Given the description of an element on the screen output the (x, y) to click on. 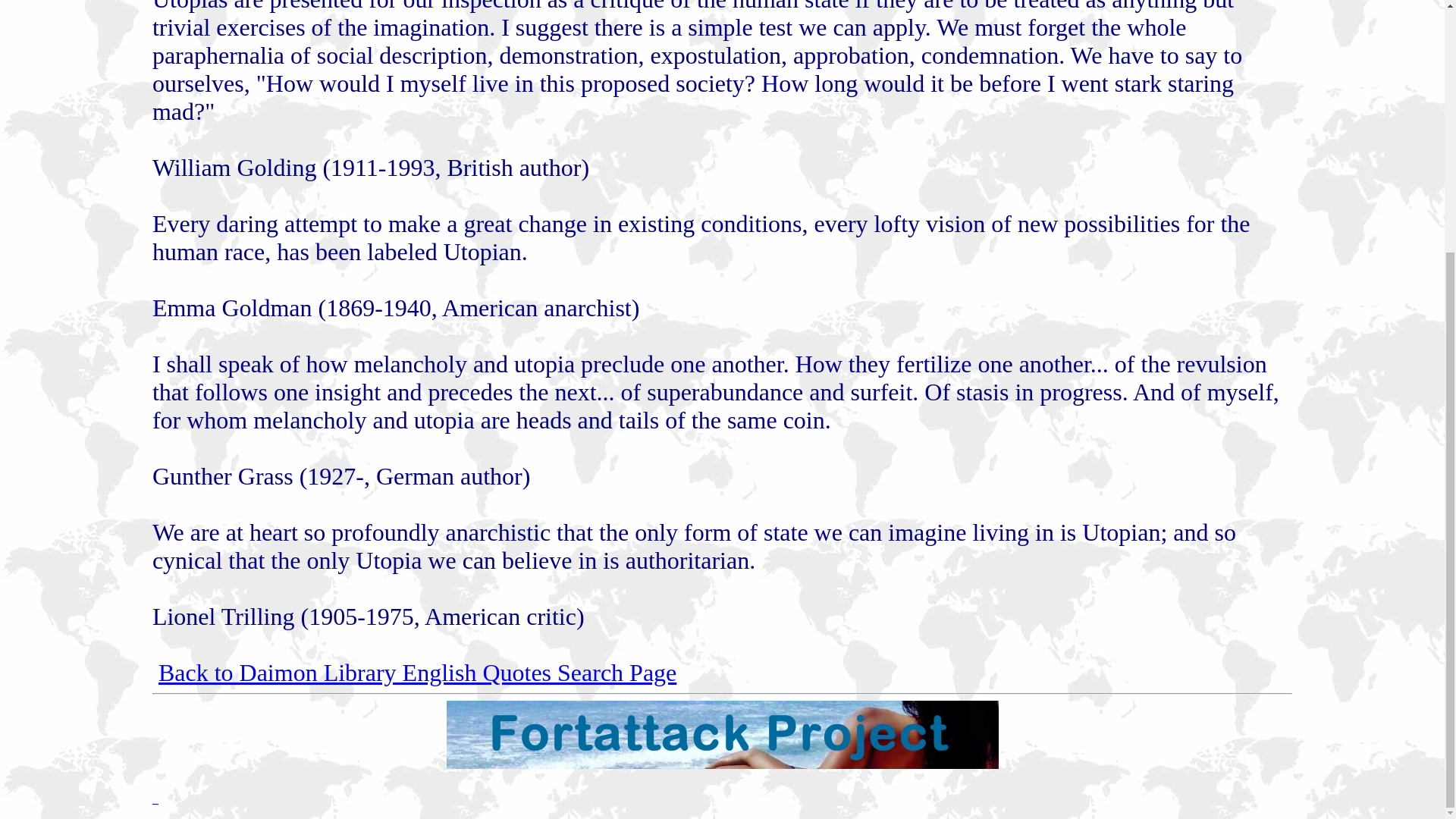
Fort attack blog project (721, 764)
Back to Daimon Library English Quotes Search Page (417, 672)
